Given the description of an element on the screen output the (x, y) to click on. 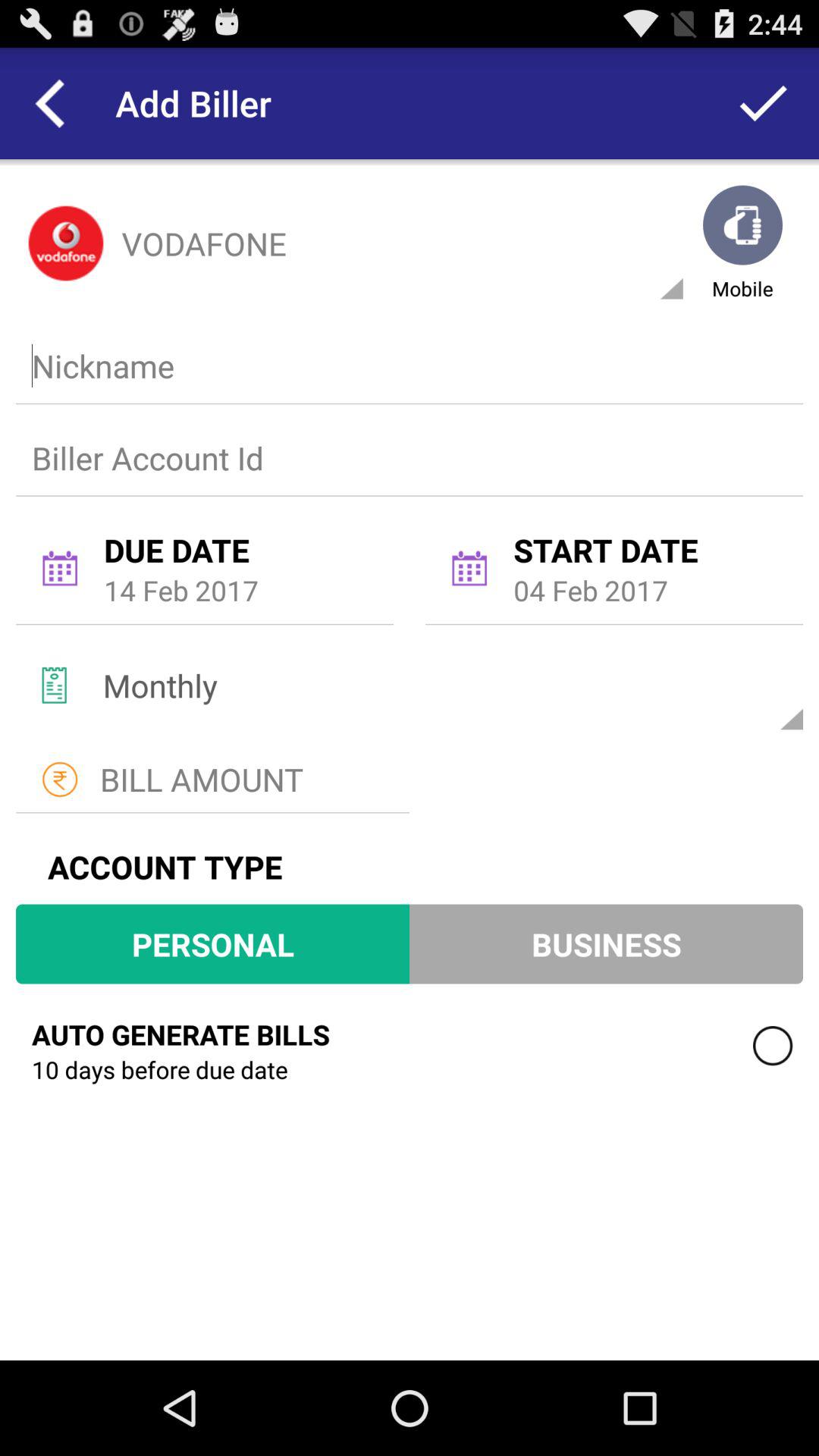
turn off the button next to personal button (606, 943)
